Given the description of an element on the screen output the (x, y) to click on. 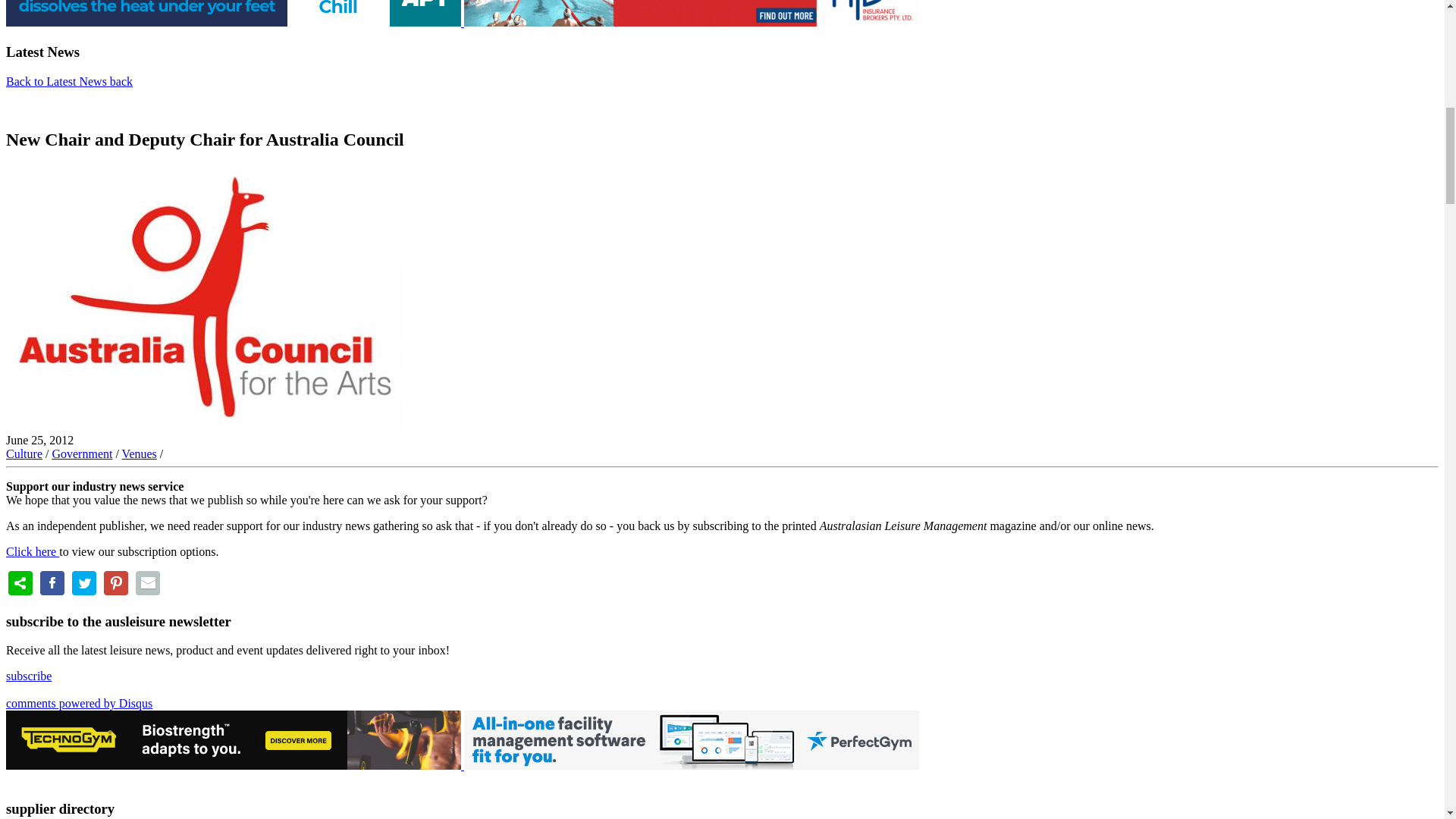
comments powered by Disqus (78, 703)
Venues (139, 453)
Culture (23, 453)
Government (81, 453)
Click here (32, 551)
Back to Latest News back (68, 81)
subscribe (27, 675)
